Given the description of an element on the screen output the (x, y) to click on. 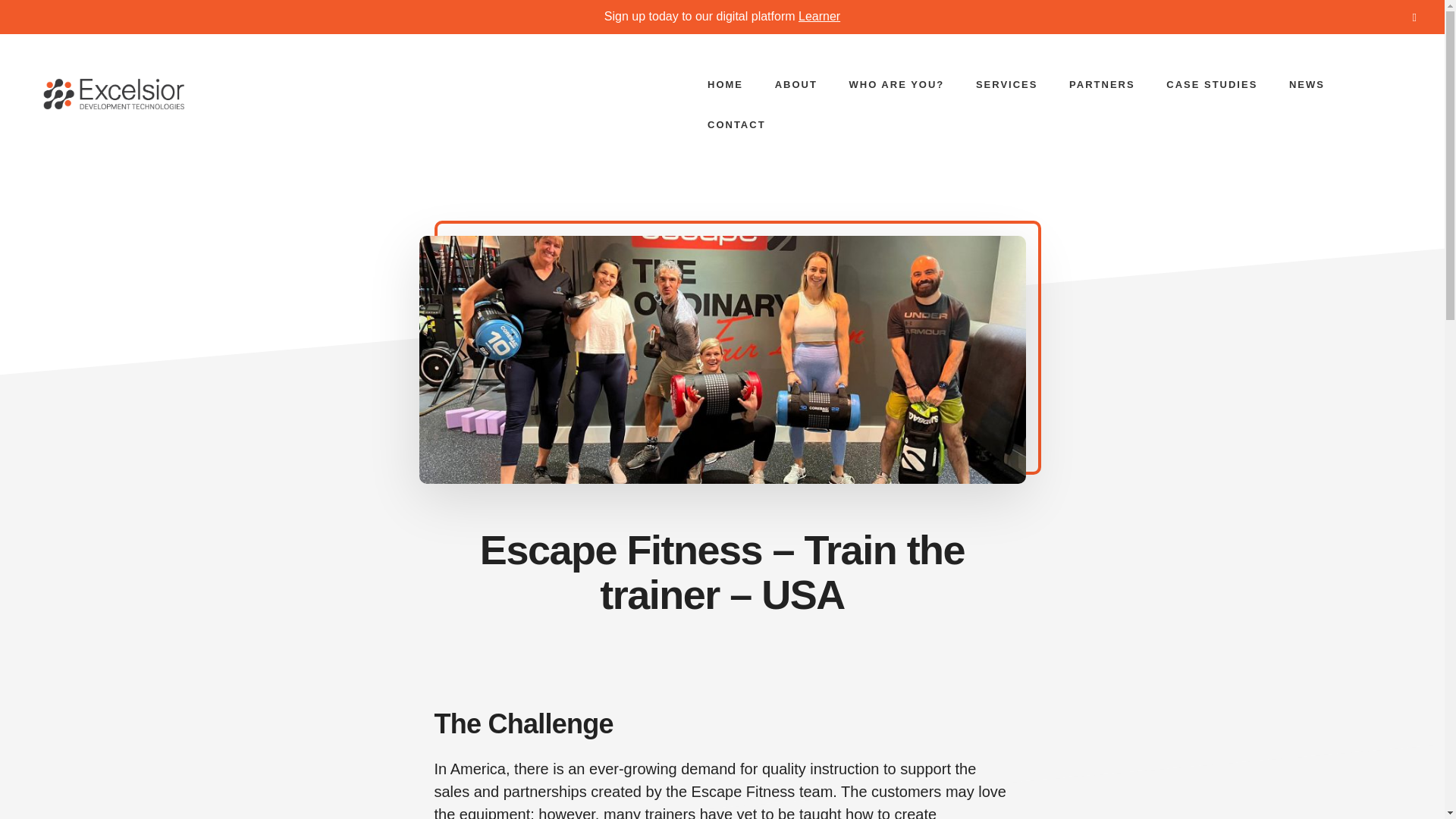
PARTNERS (1101, 84)
SERVICES (1006, 84)
Learner (818, 15)
CASE STUDIES (1212, 84)
ABOUT (796, 84)
WHO ARE YOU? (896, 84)
HOME (725, 84)
